Given the description of an element on the screen output the (x, y) to click on. 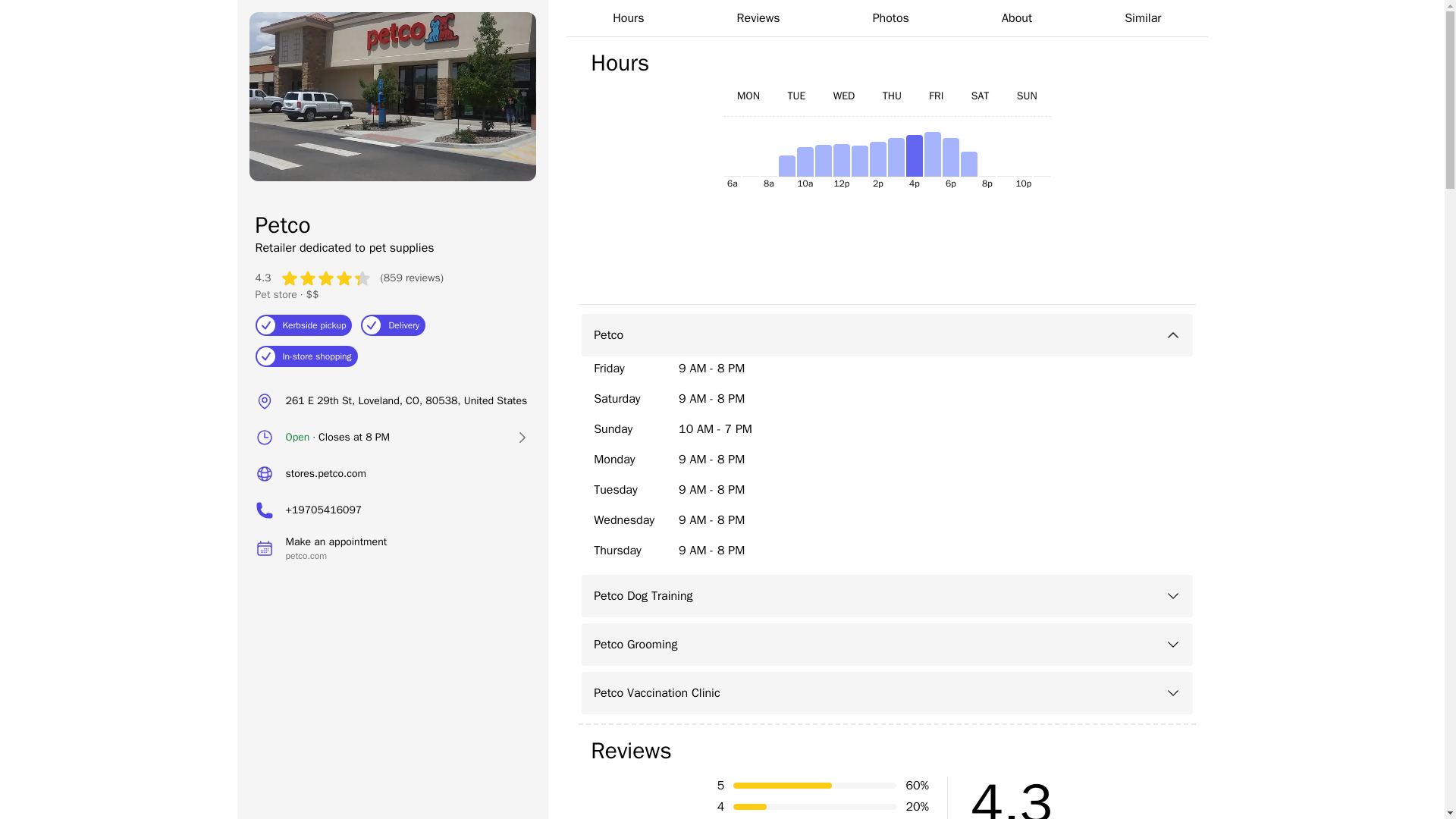
stores.petco.com (391, 473)
MON (748, 96)
261 E 29th St, Loveland, CO, 80538, United States (391, 401)
Similar (1142, 18)
Hours (391, 548)
Hours (886, 62)
Reviews (886, 62)
SUN (758, 18)
THU (1027, 96)
